Given the description of an element on the screen output the (x, y) to click on. 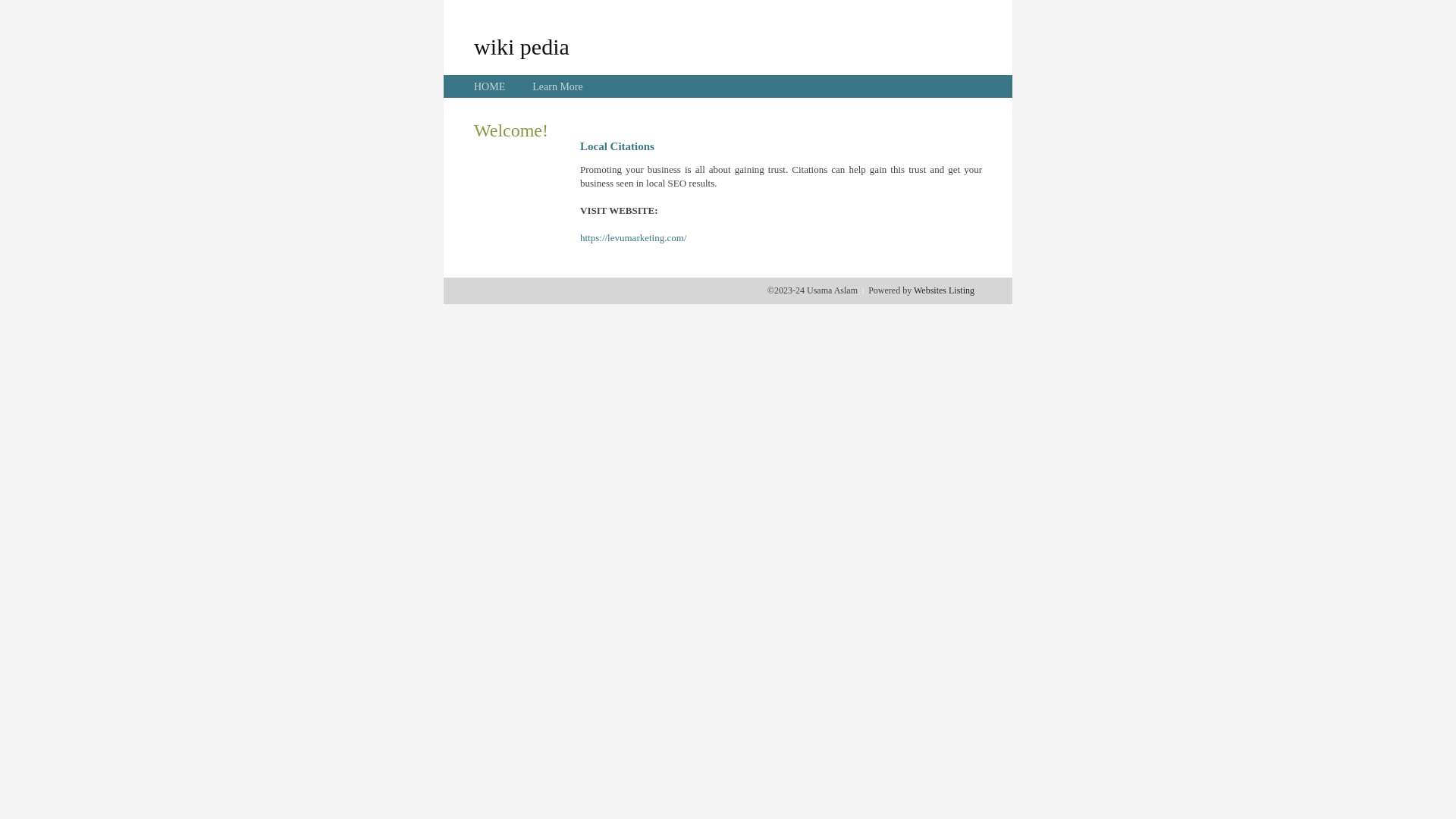
HOME Element type: text (489, 86)
Learn More Element type: text (557, 86)
wiki pedia Element type: text (521, 46)
https://levumarketing.com/ Element type: text (633, 237)
Websites Listing Element type: text (943, 290)
